Given the description of an element on the screen output the (x, y) to click on. 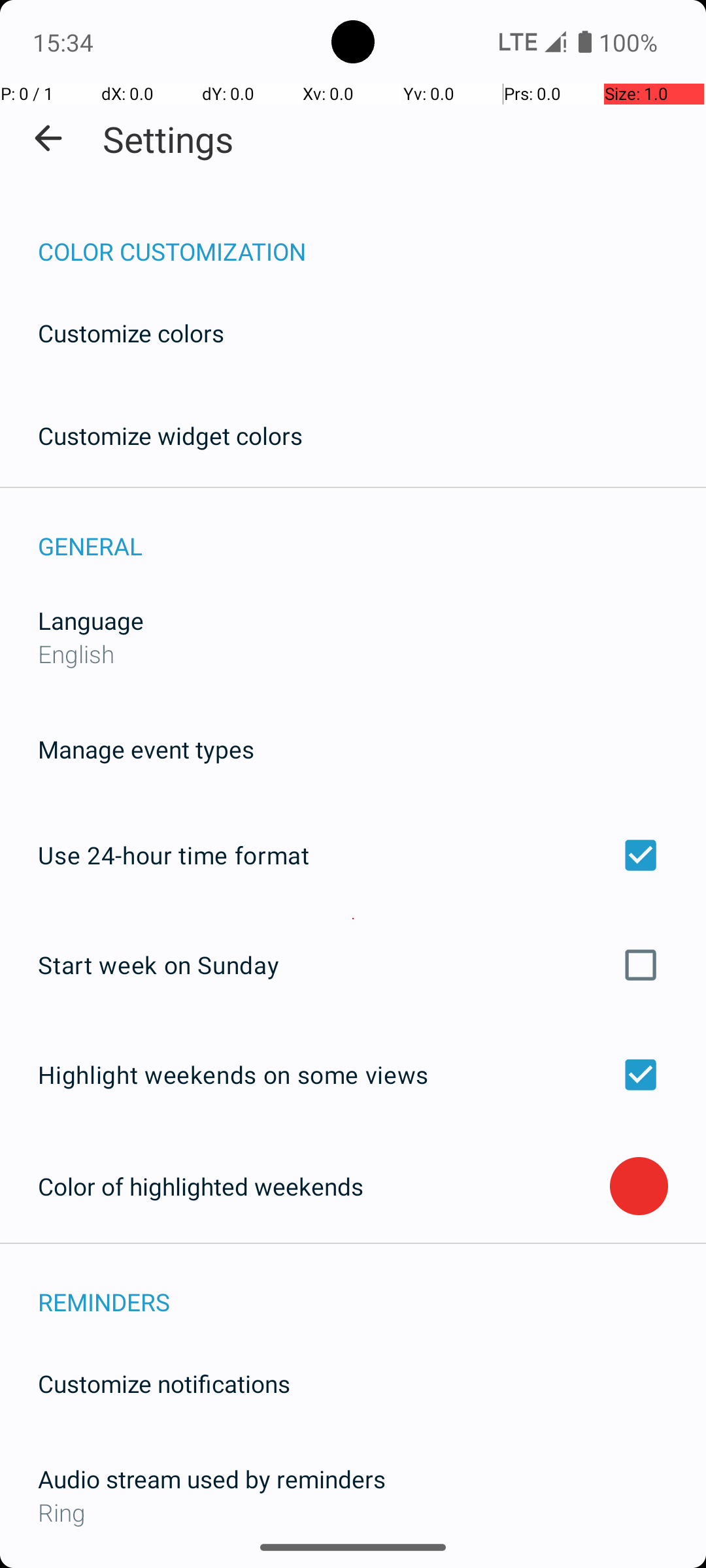
Color of highlighted weekends Element type: android.widget.TextView (323, 1186)
Ring Element type: android.widget.TextView (352, 1511)
